Given the description of an element on the screen output the (x, y) to click on. 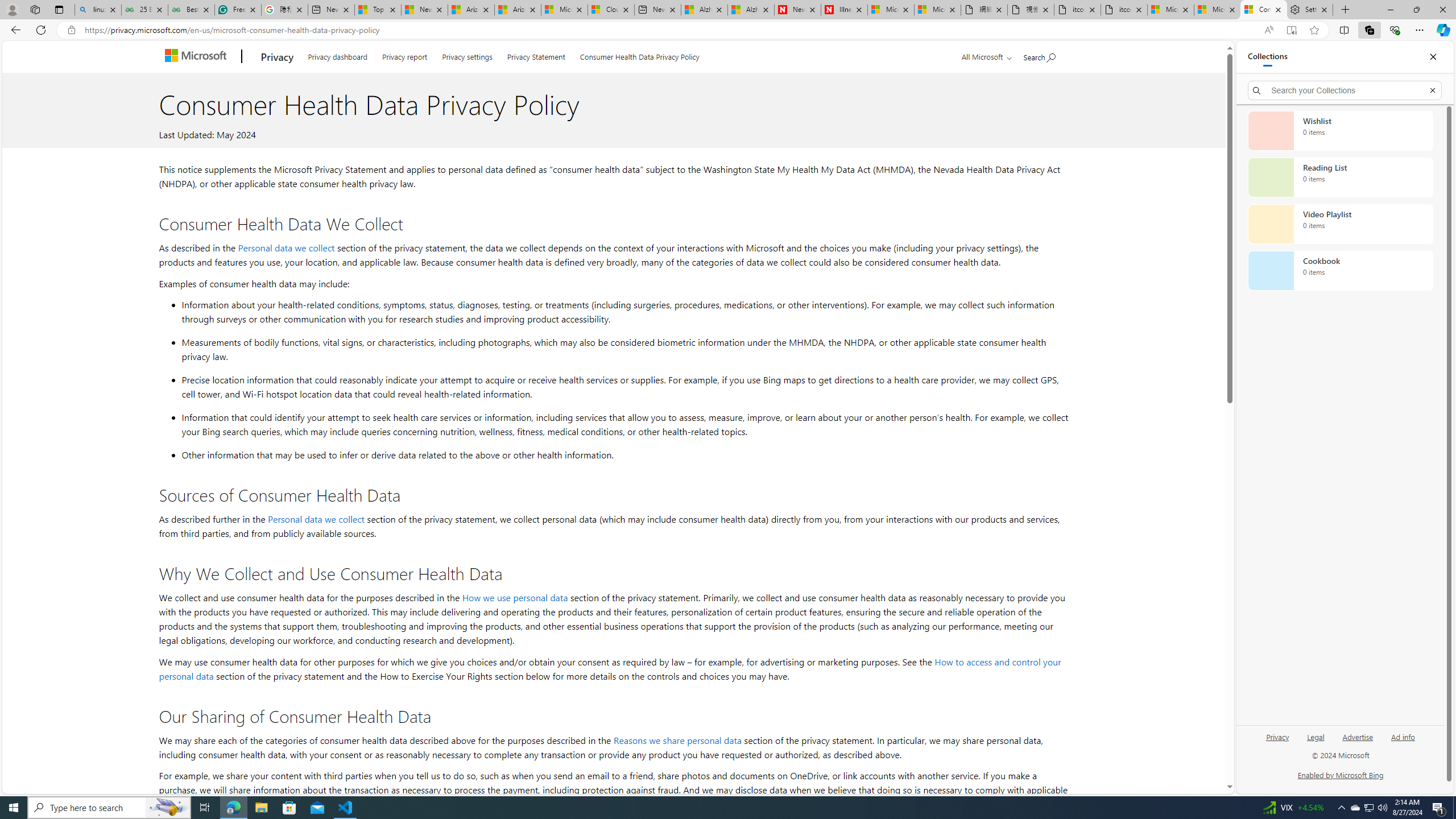
Reading List collection, 0 items (1339, 177)
Consumer Health Data Privacy Policy (639, 54)
Privacy dashboard (337, 54)
itconcepthk.com/projector_solutions.mp4 (1123, 9)
